Given the description of an element on the screen output the (x, y) to click on. 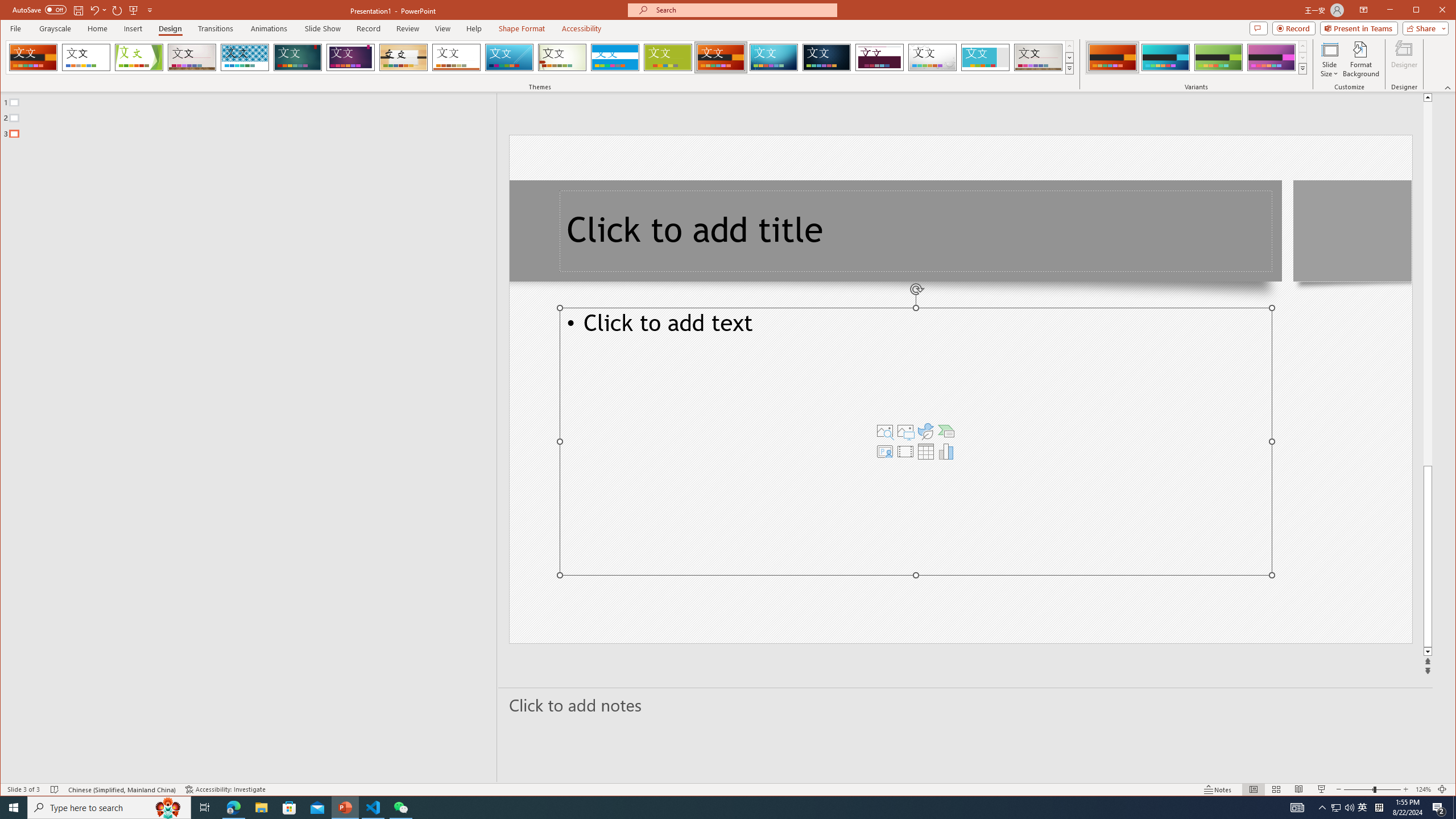
Facet (138, 57)
Wisp (561, 57)
Banded (615, 57)
Grayscale (55, 28)
Insert an Icon (925, 430)
Retrospect (456, 57)
Insert a SmartArt Graphic (946, 430)
Berlin Variant 1 (1112, 57)
